Given the description of an element on the screen output the (x, y) to click on. 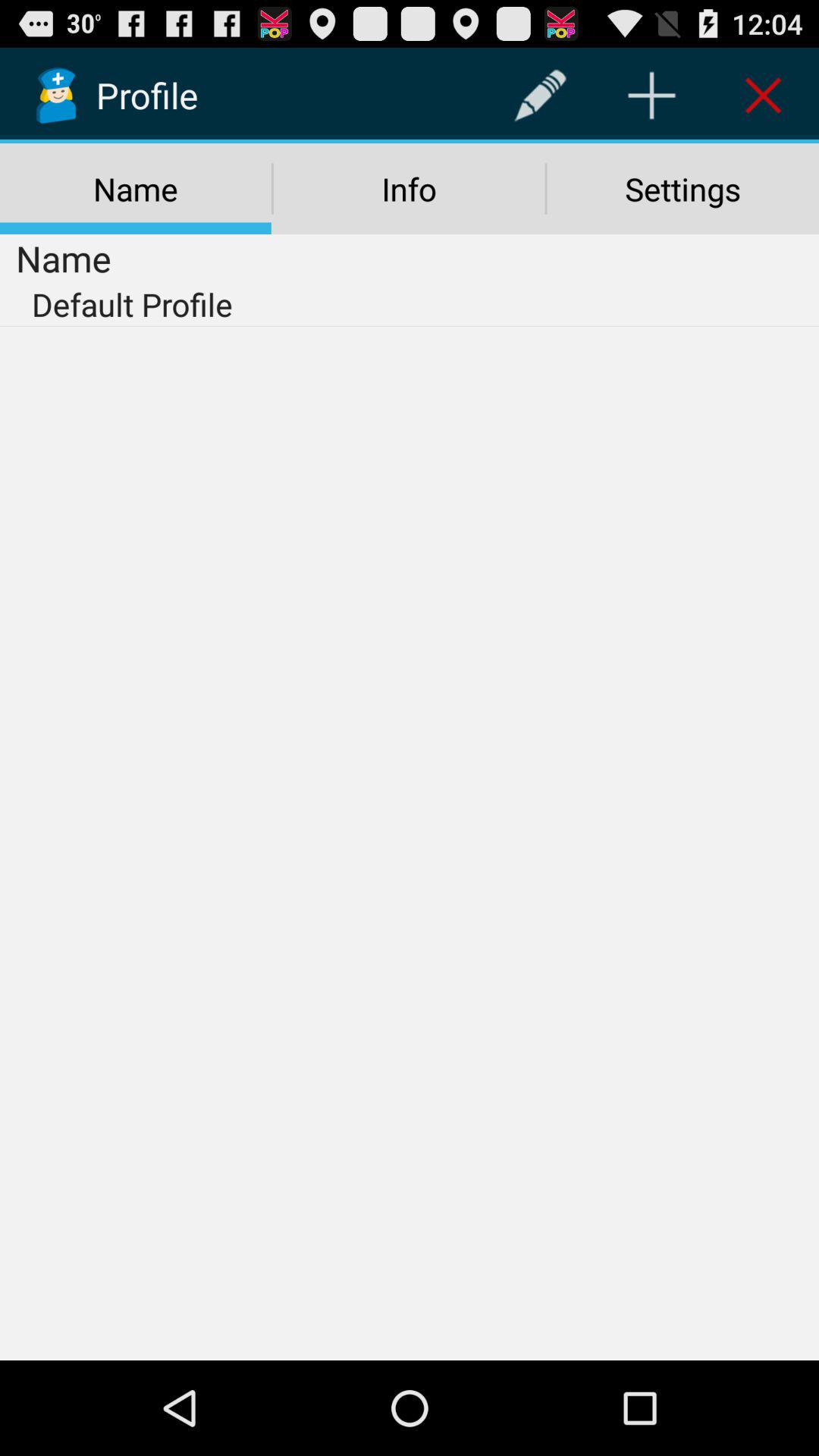
select info (408, 188)
